Given the description of an element on the screen output the (x, y) to click on. 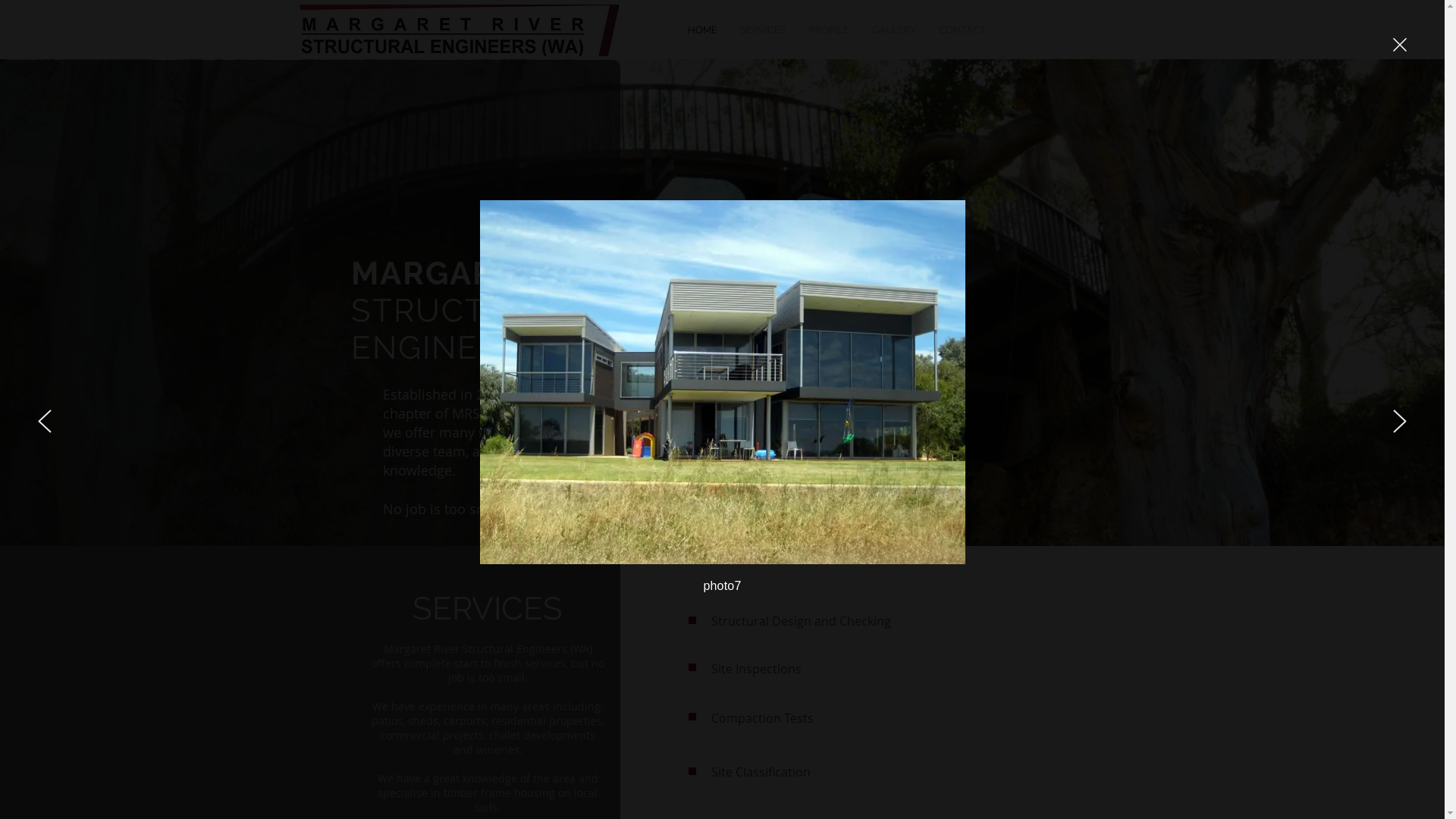
GALLERY Element type: text (892, 29)
CONTACT Element type: text (961, 29)
PROFILE Element type: text (828, 29)
SERVICES Element type: text (762, 29)
HOME Element type: text (702, 29)
